Given the description of an element on the screen output the (x, y) to click on. 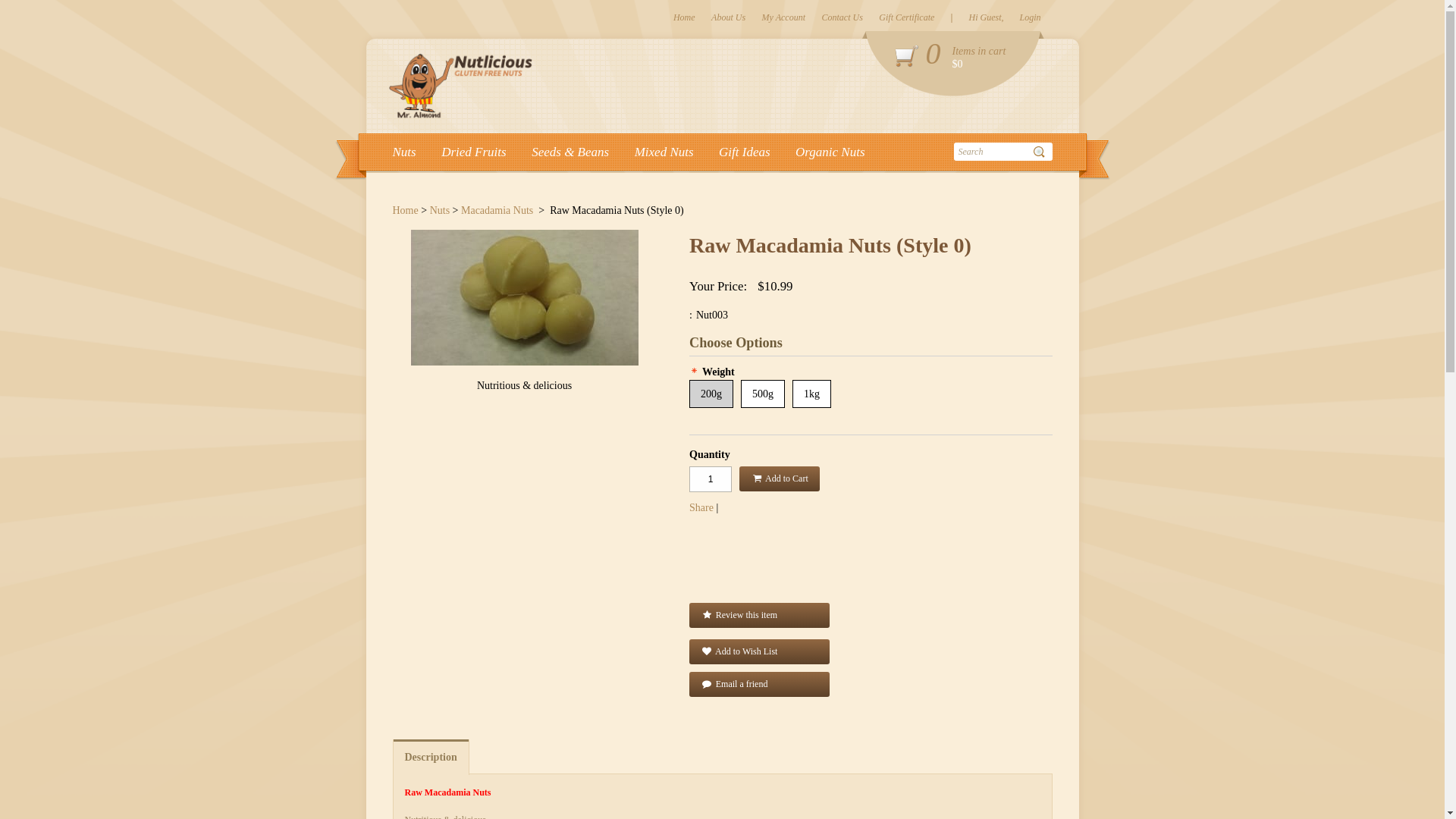
Add to Wish List Element type: text (759, 651)
Review this item Element type: text (759, 614)
500g Element type: text (762, 393)
Macadamia Nuts Element type: text (497, 210)
0
Items in cart
$0 Element type: text (952, 63)
Dried Fruits Element type: text (473, 151)
1kg Element type: text (811, 393)
Add to Cart Element type: text (779, 478)
Login Element type: text (1029, 16)
Email a friend Element type: text (759, 683)
Seeds & Beans Element type: text (569, 151)
Nuts Element type: text (439, 210)
200g Element type: text (711, 393)
Contact Us Element type: text (841, 17)
Share Element type: text (701, 507)
Gift Ideas Element type: text (744, 151)
Nuts Element type: text (404, 151)
Home Element type: text (405, 210)
Home Element type: text (684, 17)
Gift Certificate Element type: text (906, 17)
My Account Element type: text (783, 17)
Mixed Nuts Element type: text (663, 151)
Description Element type: text (429, 755)
Organic Nuts Element type: text (829, 151)
About Us Element type: text (728, 17)
